Given the description of an element on the screen output the (x, y) to click on. 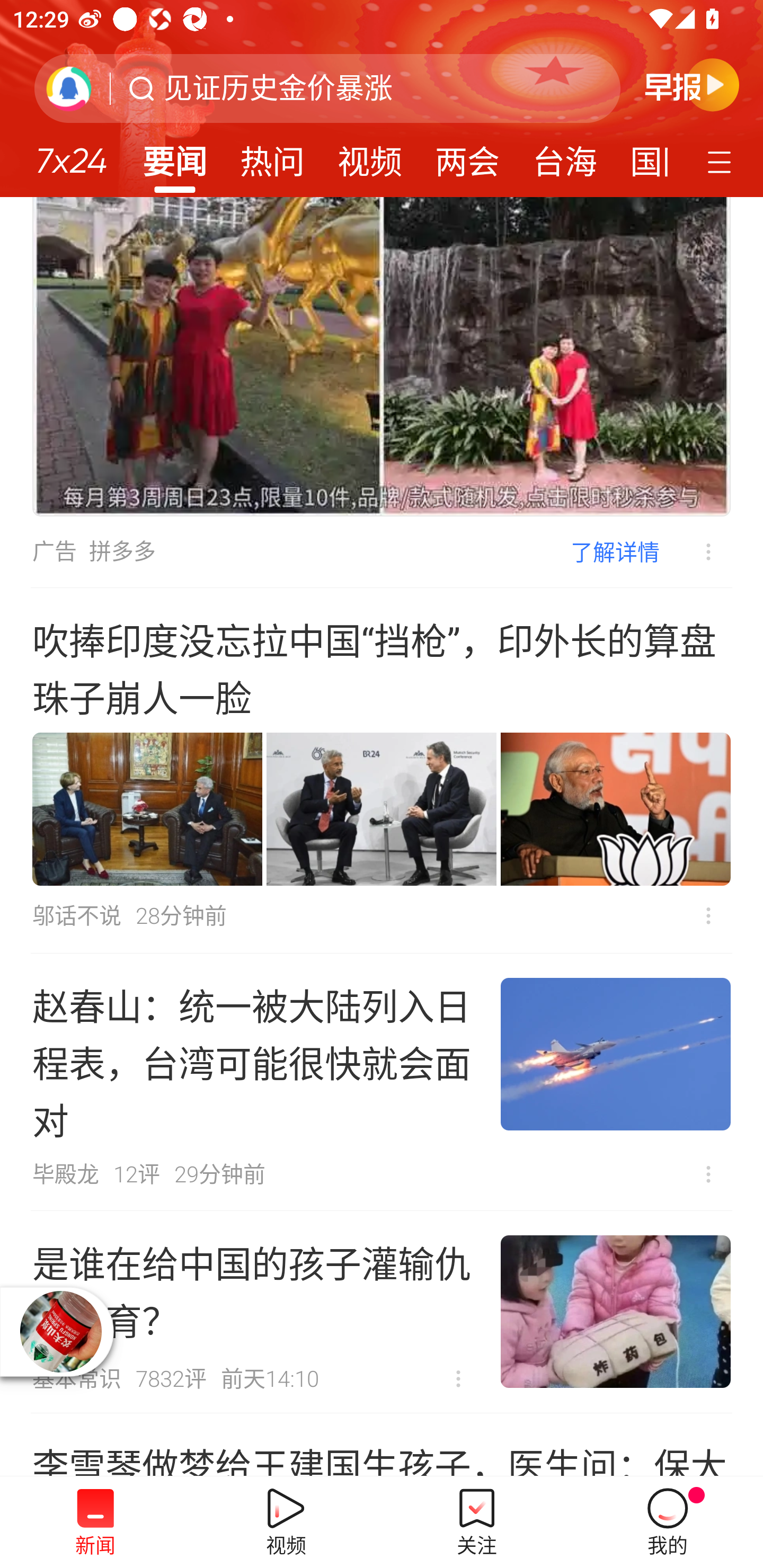
早晚报 (691, 84)
刷新 (68, 88)
见证历史金价暴涨 (278, 88)
7x24 (70, 154)
要闻 (174, 155)
热问 (272, 155)
视频 (369, 155)
两会 (466, 155)
台海 (564, 155)
 定制频道 (721, 160)
 不感兴趣 (694, 551)
了解详情 (614, 551)
广告 (54, 551)
拼多多 (122, 551)
 不感兴趣 (707, 915)
赵春山：统一被大陆列入日程表，台湾可能很快就会面对 毕殿龙 12评 29分钟前  不感兴趣 (381, 1081)
 不感兴趣 (707, 1174)
是谁在给中国的孩子灌输仇恨教育？ 基本常识 7832评 前天14:10  不感兴趣 (381, 1311)
播放器 (60, 1331)
 不感兴趣 (458, 1378)
